Given the description of an element on the screen output the (x, y) to click on. 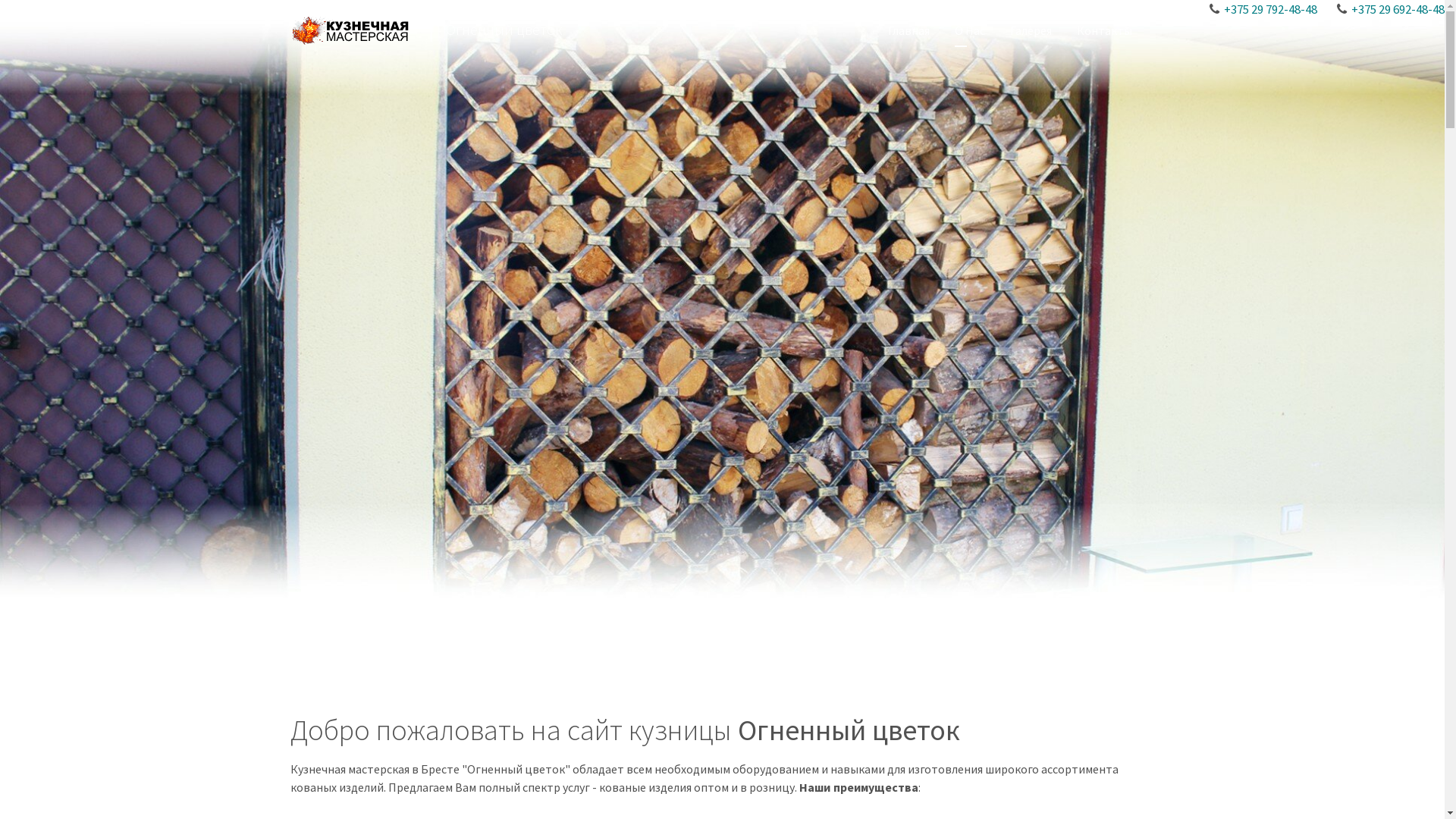
+375 29 792-48-48 Element type: text (1270, 9)
+375 29 692-48-48 Element type: text (1397, 9)
